Given the description of an element on the screen output the (x, y) to click on. 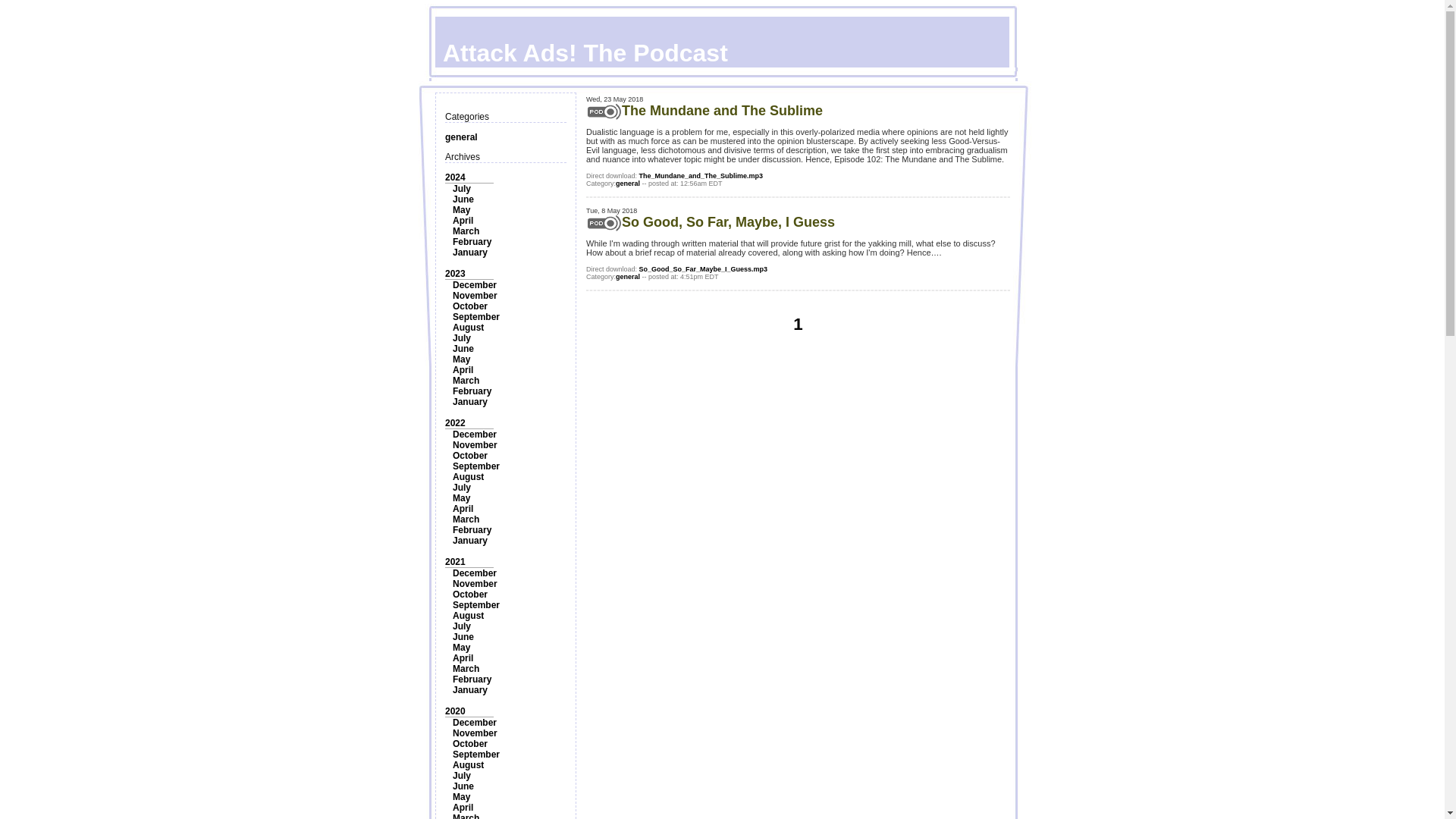
July (461, 487)
January (469, 540)
November (474, 444)
January (469, 401)
general (461, 136)
July (461, 337)
February (472, 241)
March (465, 380)
April (462, 508)
2021 (455, 561)
